Given the description of an element on the screen output the (x, y) to click on. 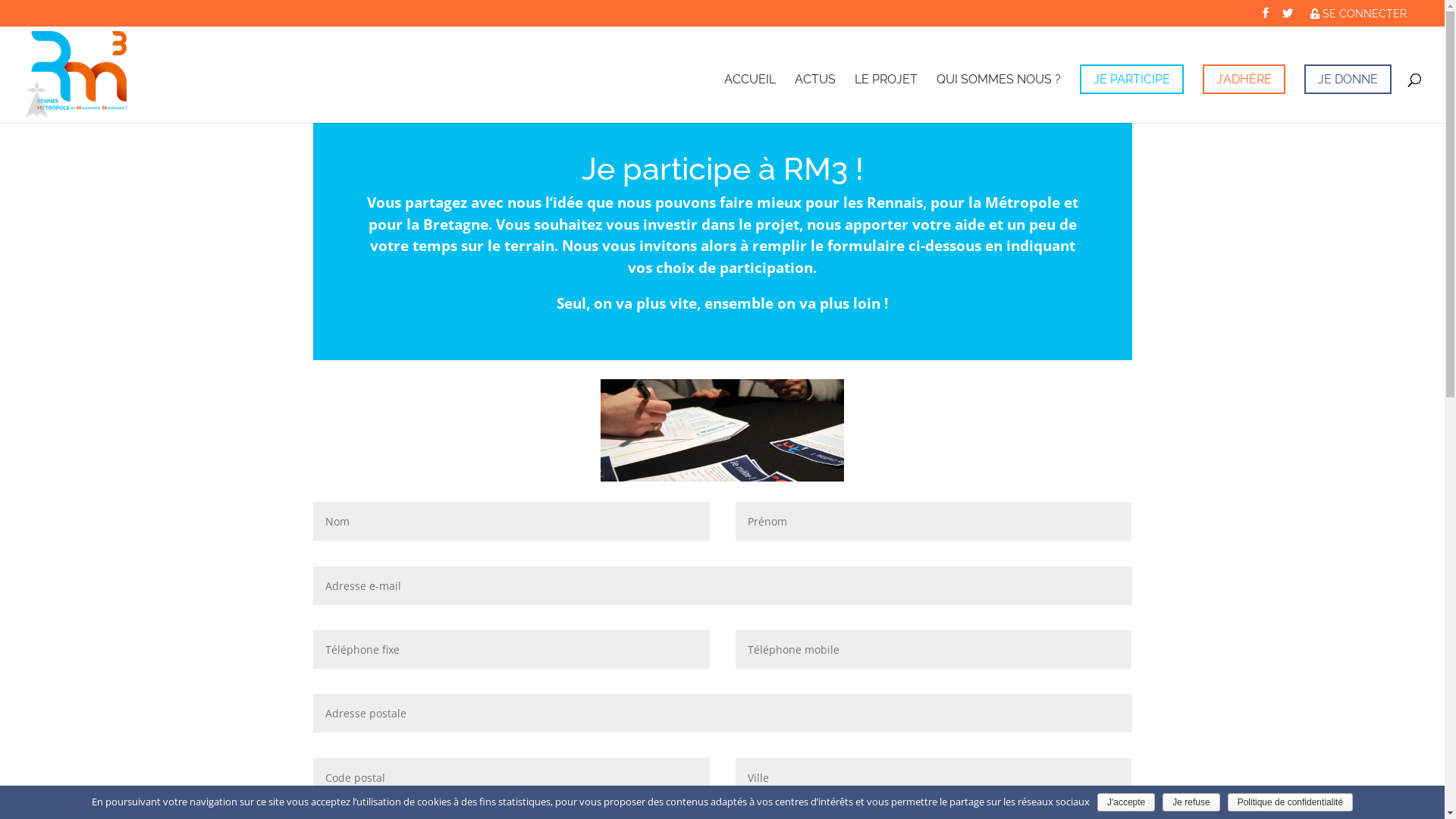
ACTUS Element type: text (814, 98)
SE CONNECTER Element type: text (1358, 13)
Je refuse Element type: text (1190, 802)
LE PROJET Element type: text (885, 98)
JE PARTICIPE Element type: text (1131, 79)
QUI SOMMES NOUS ? Element type: text (998, 98)
JE DONNE Element type: text (1347, 79)
ACCUEIL Element type: text (749, 98)
J'accepte Element type: text (1125, 802)
